Given the description of an element on the screen output the (x, y) to click on. 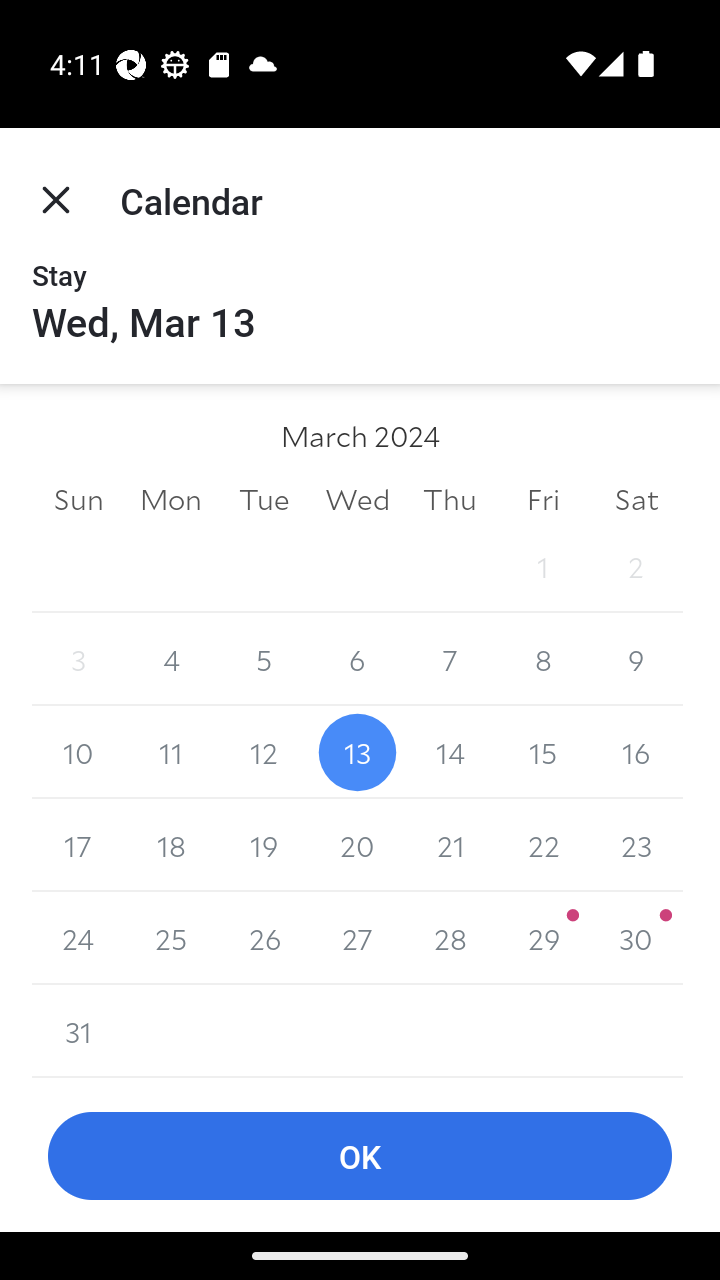
Sun (78, 498)
Mon (171, 498)
Tue (264, 498)
Wed (357, 498)
Thu (449, 498)
Fri (542, 498)
Sat (636, 498)
1 1 March 2024 (542, 566)
2 2 March 2024 (636, 566)
3 3 March 2024 (78, 659)
4 4 March 2024 (171, 659)
5 5 March 2024 (264, 659)
6 6 March 2024 (357, 659)
7 7 March 2024 (449, 659)
8 8 March 2024 (542, 659)
9 9 March 2024 (636, 659)
10 10 March 2024 (78, 752)
11 11 March 2024 (171, 752)
12 12 March 2024 (264, 752)
13 13 March 2024 (357, 752)
14 14 March 2024 (449, 752)
15 15 March 2024 (542, 752)
16 16 March 2024 (636, 752)
17 17 March 2024 (78, 845)
18 18 March 2024 (171, 845)
19 19 March 2024 (264, 845)
20 20 March 2024 (357, 845)
21 21 March 2024 (449, 845)
22 22 March 2024 (542, 845)
23 23 March 2024 (636, 845)
24 24 March 2024 (78, 938)
25 25 March 2024 (171, 938)
26 26 March 2024 (264, 938)
27 27 March 2024 (357, 938)
28 28 March 2024 (449, 938)
29 29 March 2024 (542, 938)
30 30 March 2024 (636, 938)
31 31 March 2024 (78, 1031)
OK (359, 1156)
